Given the description of an element on the screen output the (x, y) to click on. 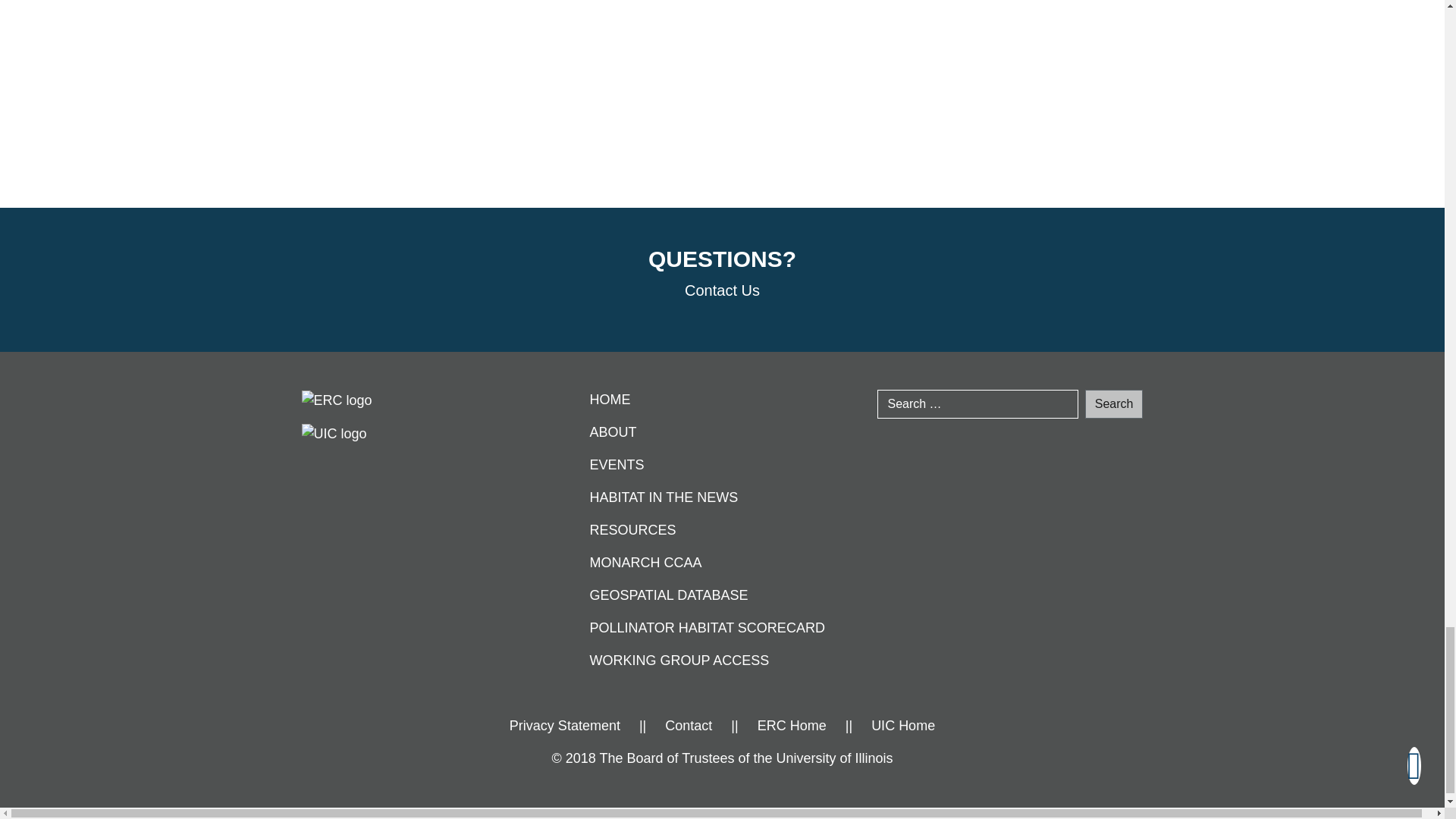
opens in a new tab (333, 432)
opens in a new tab (564, 725)
opens in a new tab (336, 399)
opens in a new tab (902, 725)
opens in a new tab (792, 725)
